Given the description of an element on the screen output the (x, y) to click on. 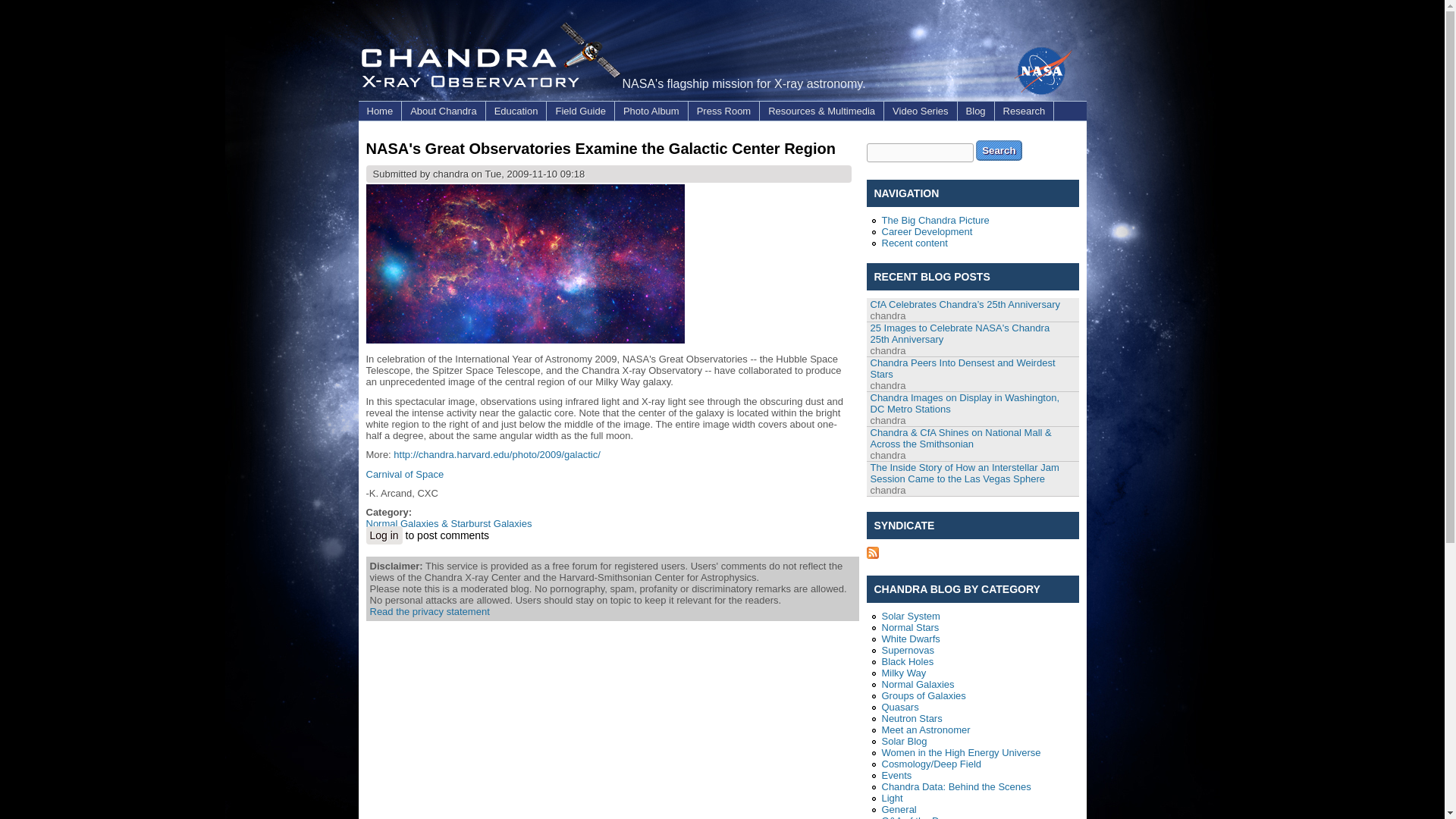
Carnival of Space (404, 473)
The Big Chandra Picture (934, 219)
Milky Way (903, 672)
Black Holes (906, 661)
Groups of Galaxies (922, 695)
Normal Galaxies (916, 684)
Recent content (913, 242)
Blog (976, 110)
Chandra Images on Display in Washington, DC Metro Stations (964, 403)
Video Series (919, 110)
Search (998, 150)
Chandra Peers Into Densest and Weirdest Stars (962, 368)
Home (379, 110)
About Chandra (442, 110)
